Given the description of an element on the screen output the (x, y) to click on. 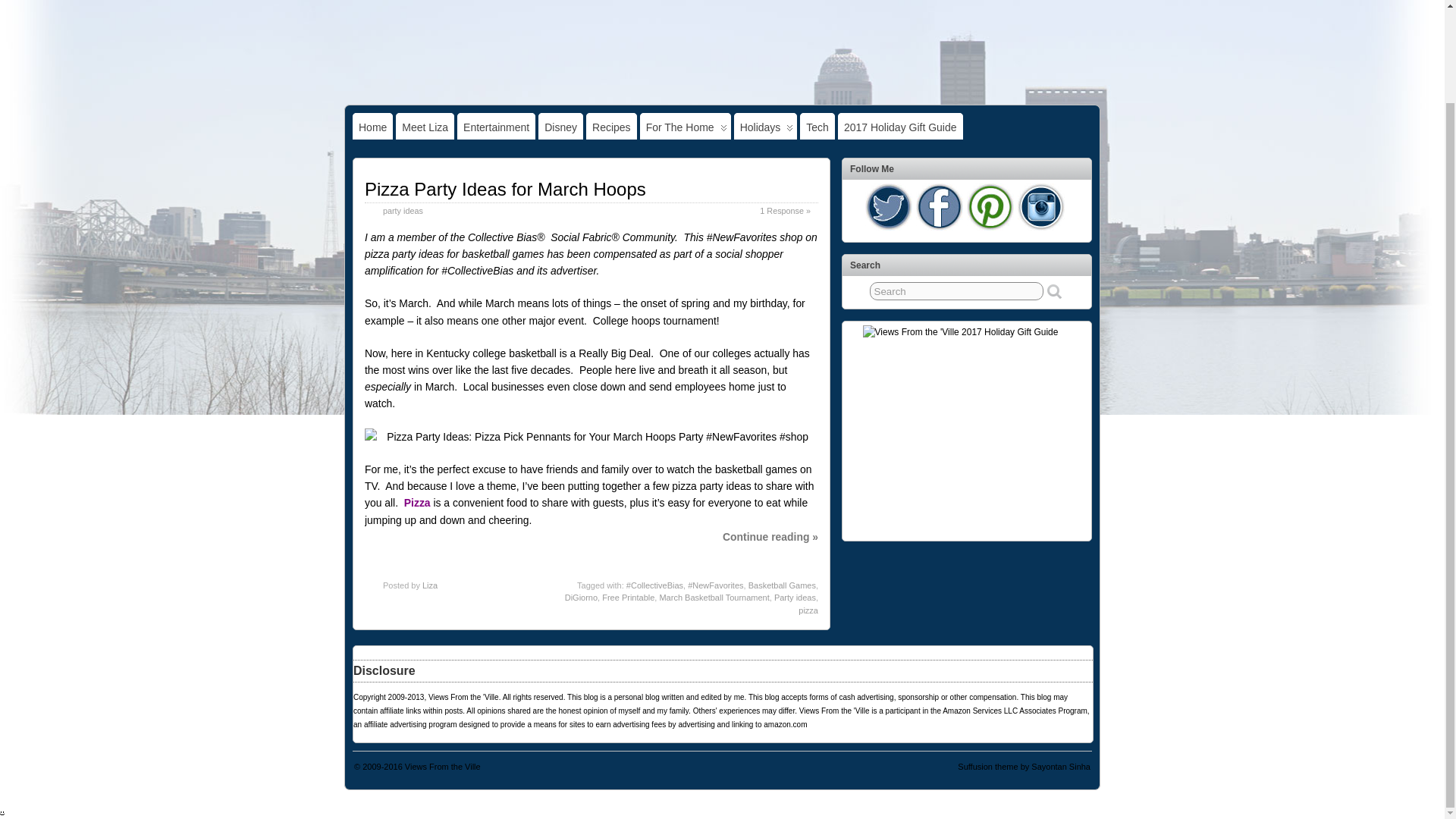
Pizza (417, 502)
Recipes (611, 126)
Search (956, 290)
Suffusion theme by Sayontan Sinha (1024, 766)
Views From the 'Ville 2017 Holiday Gift Guide (967, 429)
Pizza Party Ideas for March Hoops (505, 189)
party ideas (402, 210)
Pizza Party Ideas for March Hoops (505, 189)
Home (372, 126)
Pizza Pick Pennants for Your March Hoops Party (591, 436)
Views From the Ville (442, 766)
Basketball Games (781, 584)
March Basketball Tournament (713, 596)
 For The Home (685, 126)
Free Printable (627, 596)
